Given the description of an element on the screen output the (x, y) to click on. 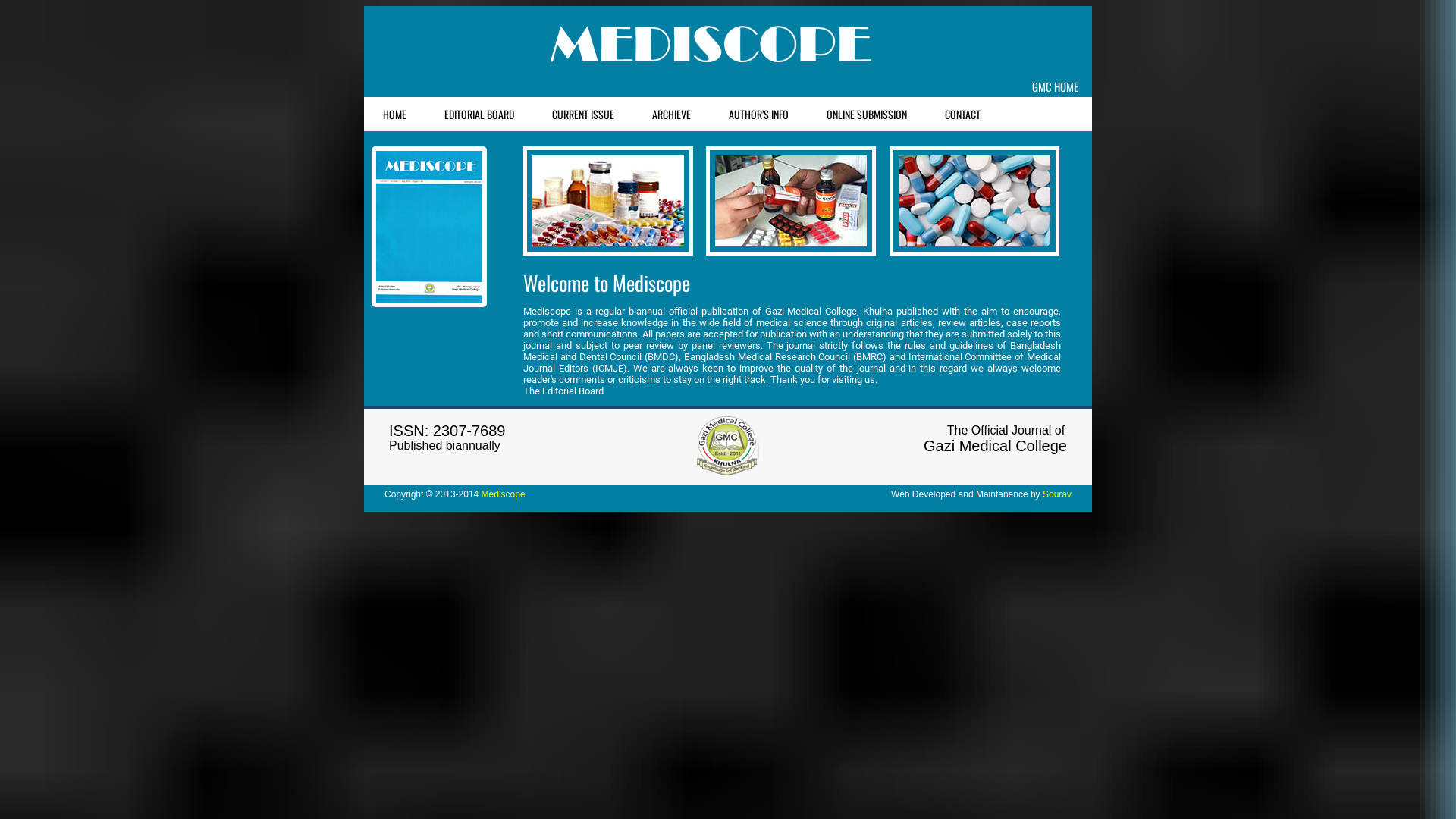
HOME Element type: text (394, 114)
Mediscope Element type: text (503, 494)
GMC HOME Element type: text (1055, 86)
EDITORIAL BOARD Element type: text (479, 114)
CONTACT Element type: text (962, 114)
Sourav Element type: text (1056, 494)
ONLINE SUBMISSION Element type: text (866, 114)
CURRENT ISSUE Element type: text (583, 114)
ARCHIEVE Element type: text (671, 114)
